Given the description of an element on the screen output the (x, y) to click on. 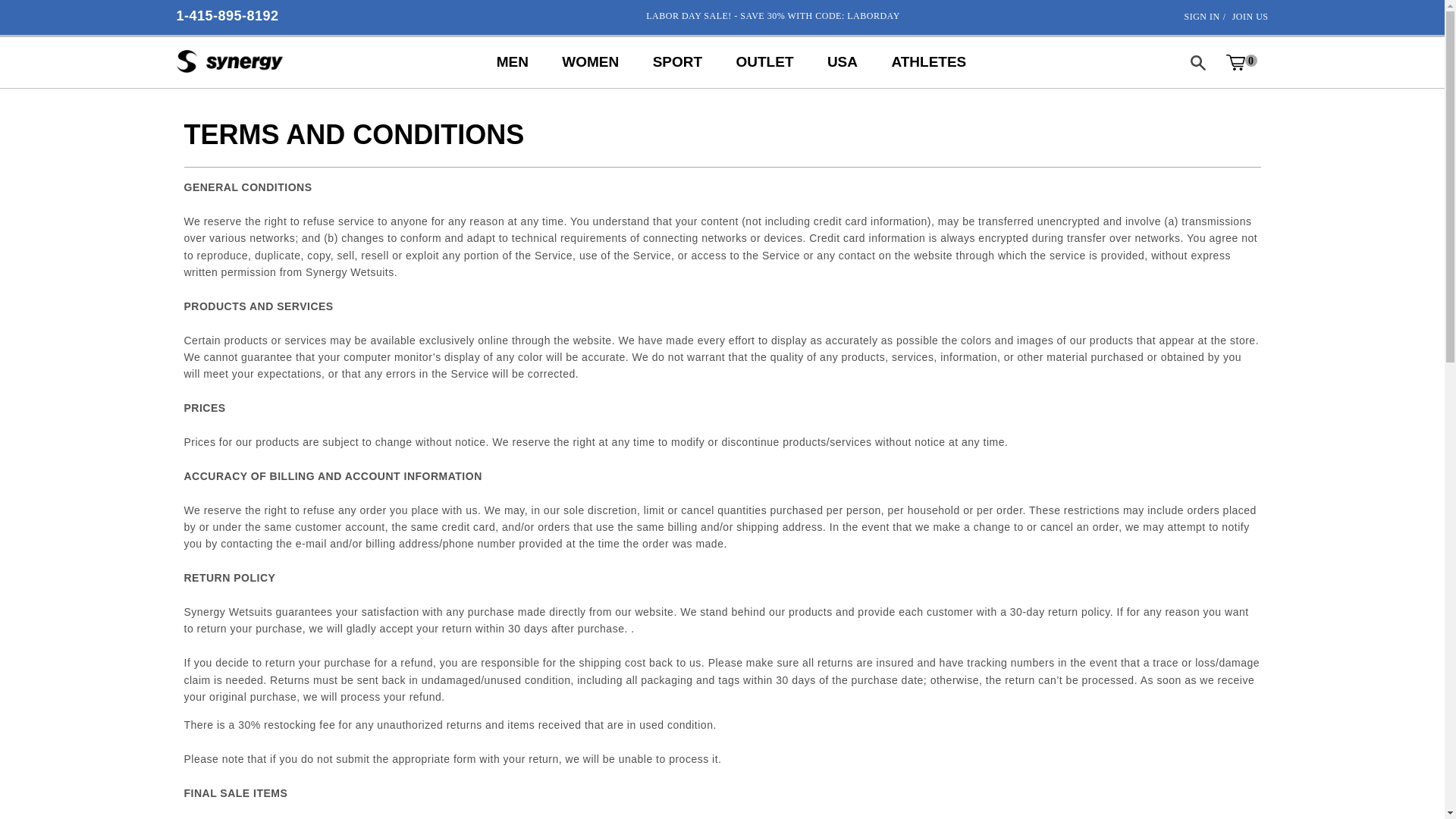
Cart (1241, 62)
Synergy Wetsuits  (229, 62)
Search (1196, 62)
